Given the description of an element on the screen output the (x, y) to click on. 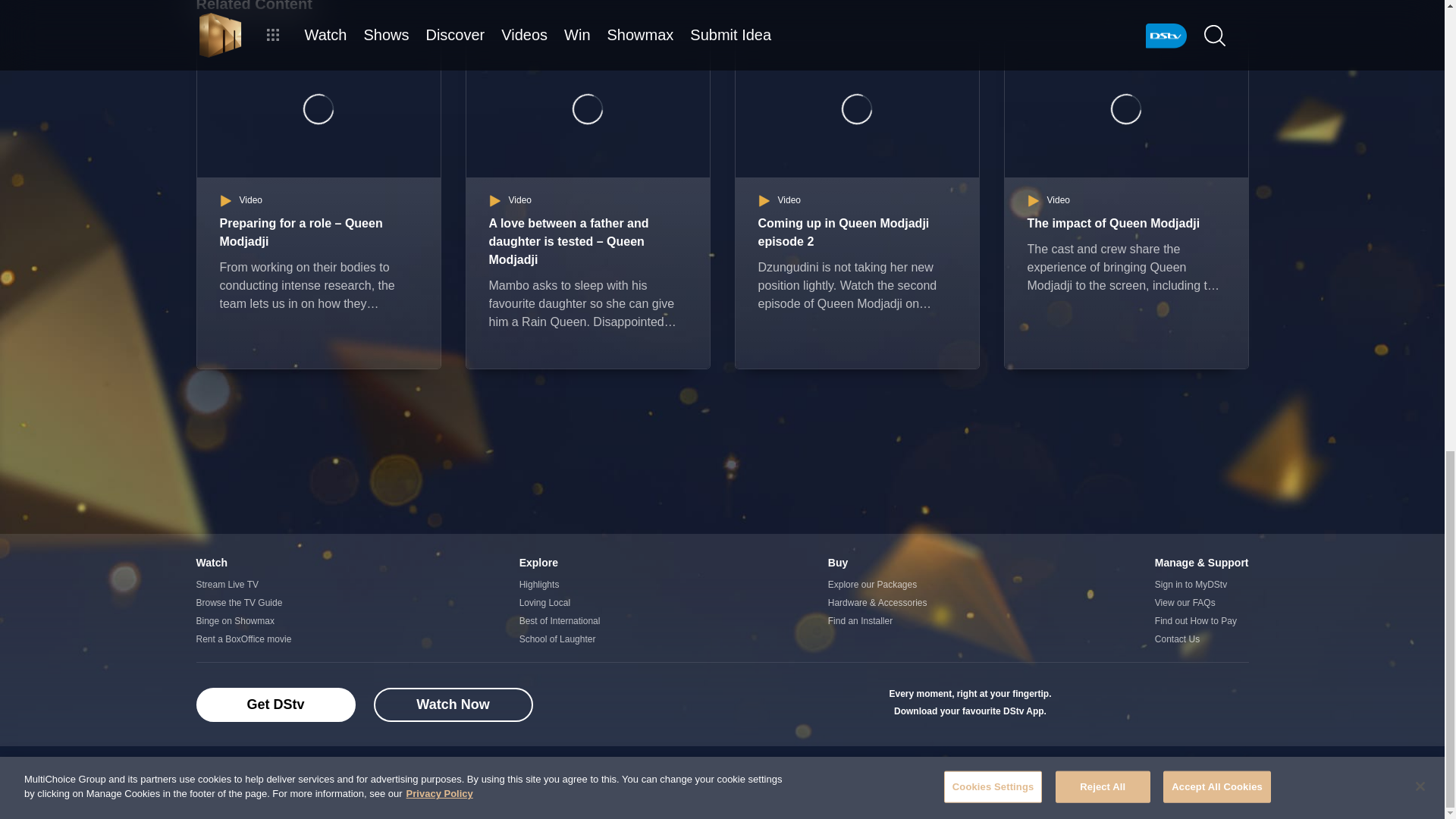
WebURL (1131, 704)
Get DStv (275, 704)
School of Laughter (559, 638)
View our FAQs (1201, 602)
Rent a BoxOffice movie (243, 638)
Stream Live TV (243, 584)
MultiChoice Website (297, 775)
WebURL (1180, 704)
WebURL (1228, 704)
Binge on Showmax (243, 620)
Sign in to MyDStv (1201, 584)
Explore our Packages (877, 584)
Watch Now (452, 704)
Contact Us (1201, 638)
Google (1081, 704)
